Given the description of an element on the screen output the (x, y) to click on. 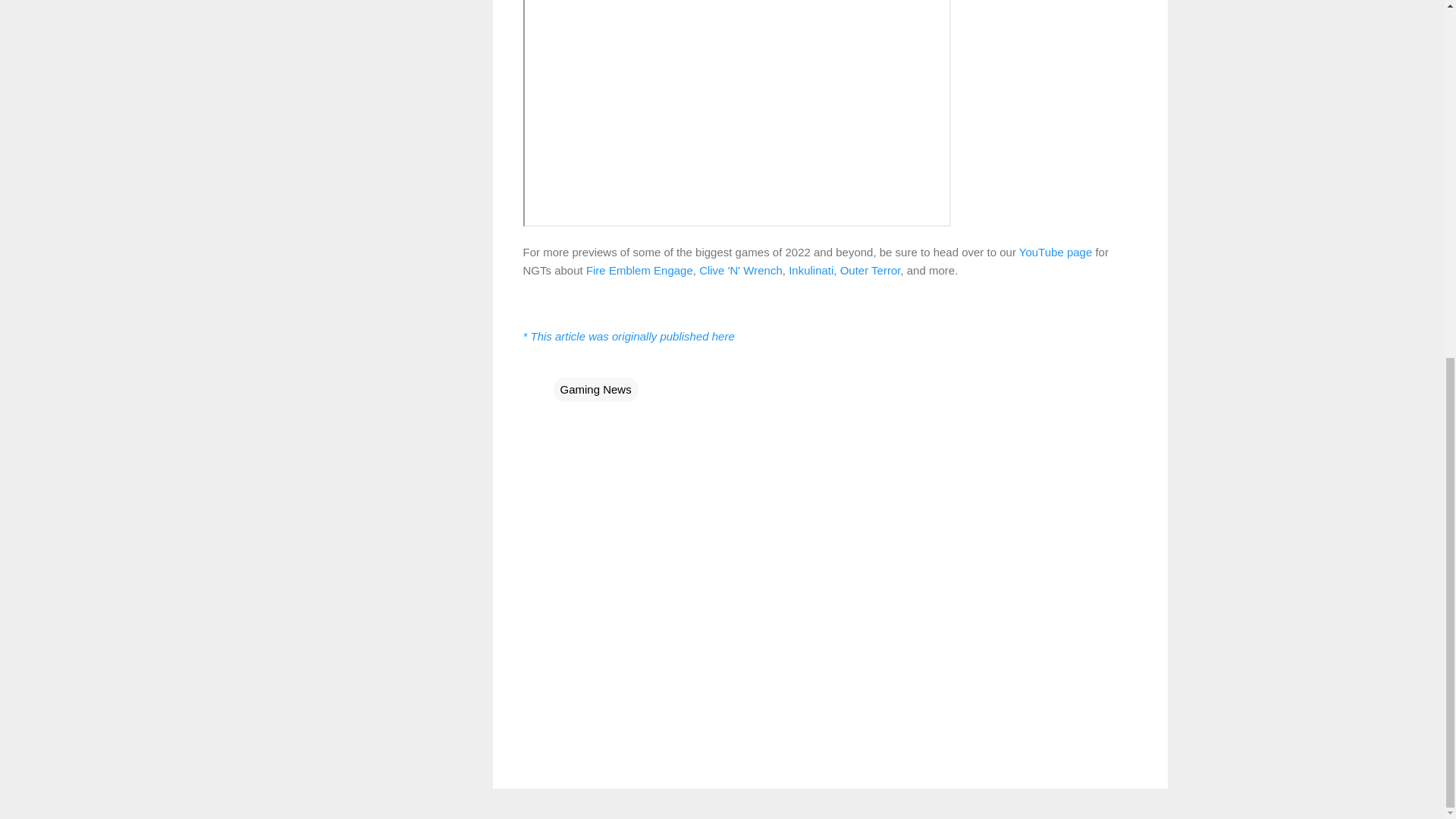
Fire Emblem Engage (639, 269)
Outer Terror (870, 269)
Clive 'N' Wrench (740, 269)
YouTube page (1055, 251)
Inkulinati (810, 269)
Gaming News (596, 389)
